Given the description of an element on the screen output the (x, y) to click on. 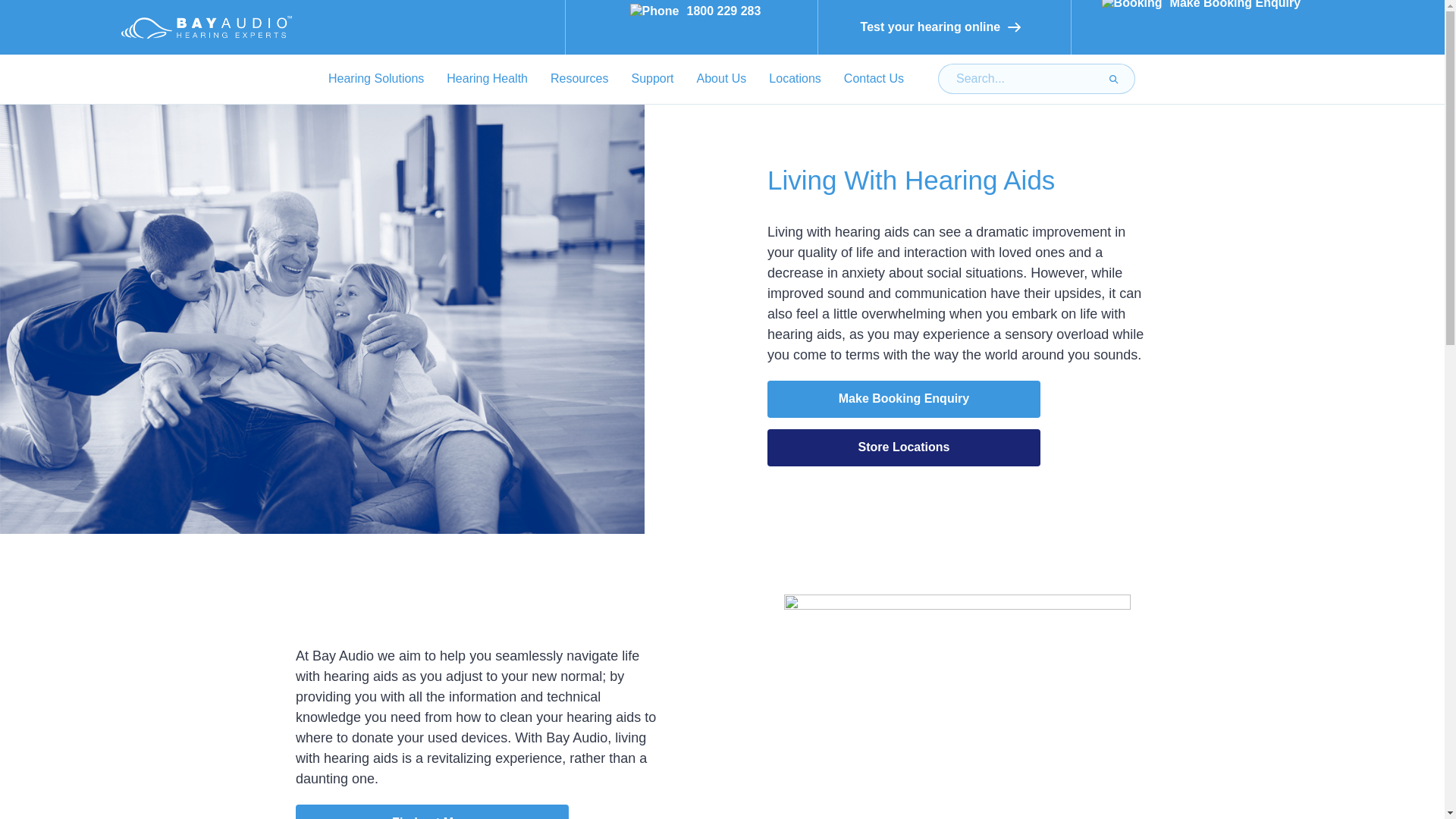
Make Booking Enquiry (1197, 29)
1800 229 283 (692, 27)
Test your hearing online (944, 27)
